Given the description of an element on the screen output the (x, y) to click on. 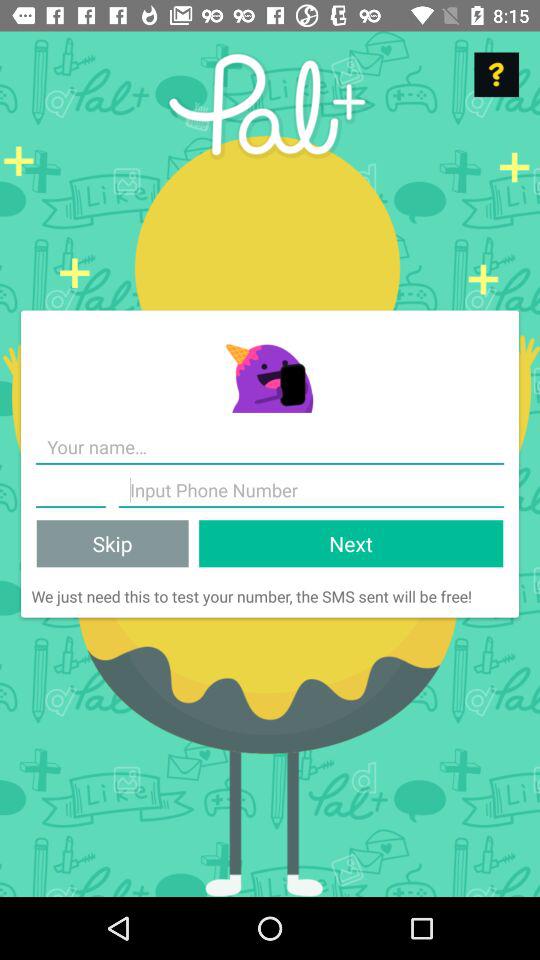
enter name (269, 447)
